Given the description of an element on the screen output the (x, y) to click on. 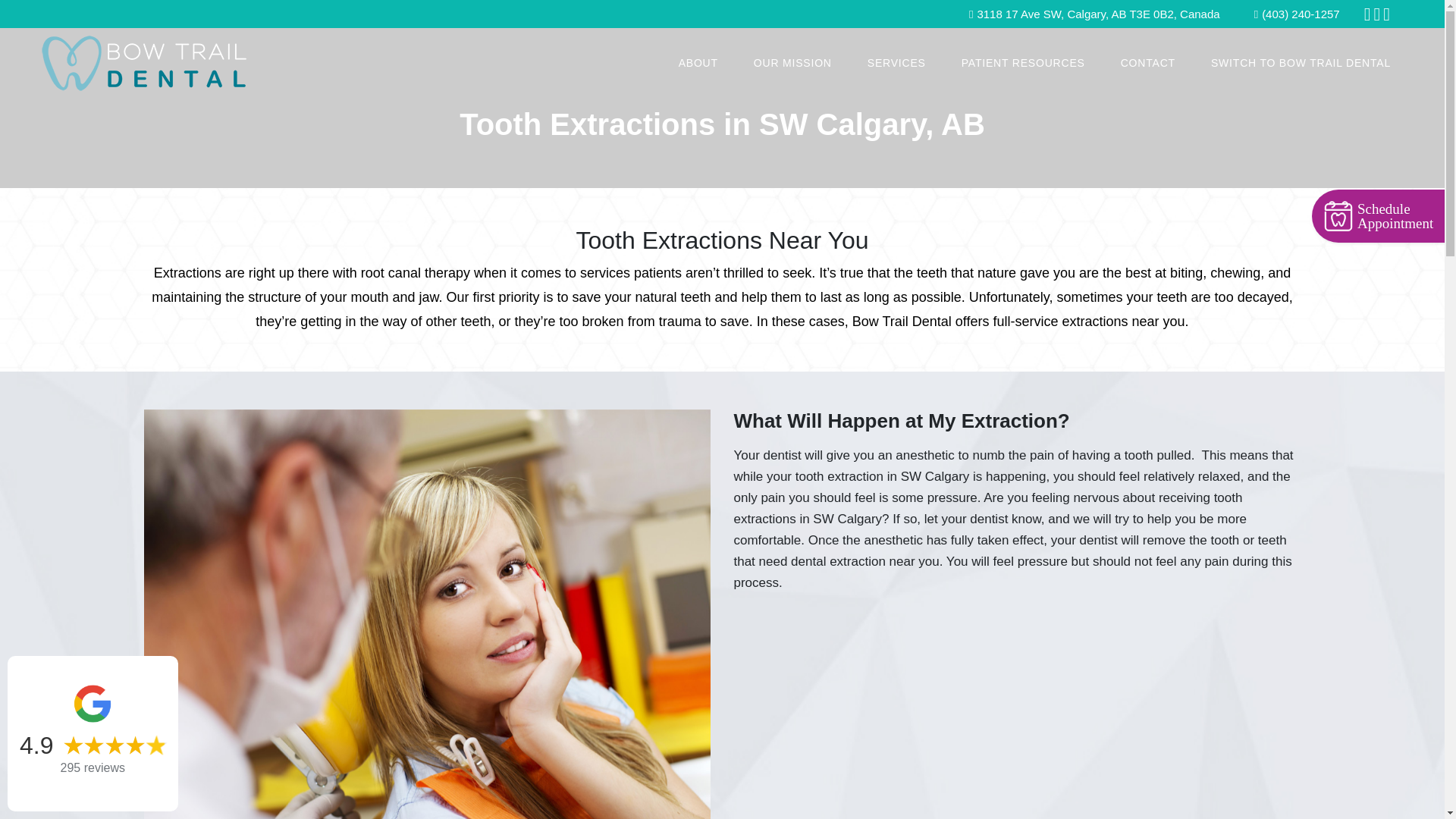
3118 17 Ave SW, Calgary, AB T3E 0B2, Canada (1094, 14)
OUR MISSION (792, 62)
PATIENT RESOURCES (1023, 62)
CONTACT (1148, 62)
About (698, 62)
Our Mission (792, 62)
ABOUT (698, 62)
Services (896, 62)
SWITCH TO BOW TRAIL DENTAL (1300, 62)
SERVICES (896, 62)
